Given the description of an element on the screen output the (x, y) to click on. 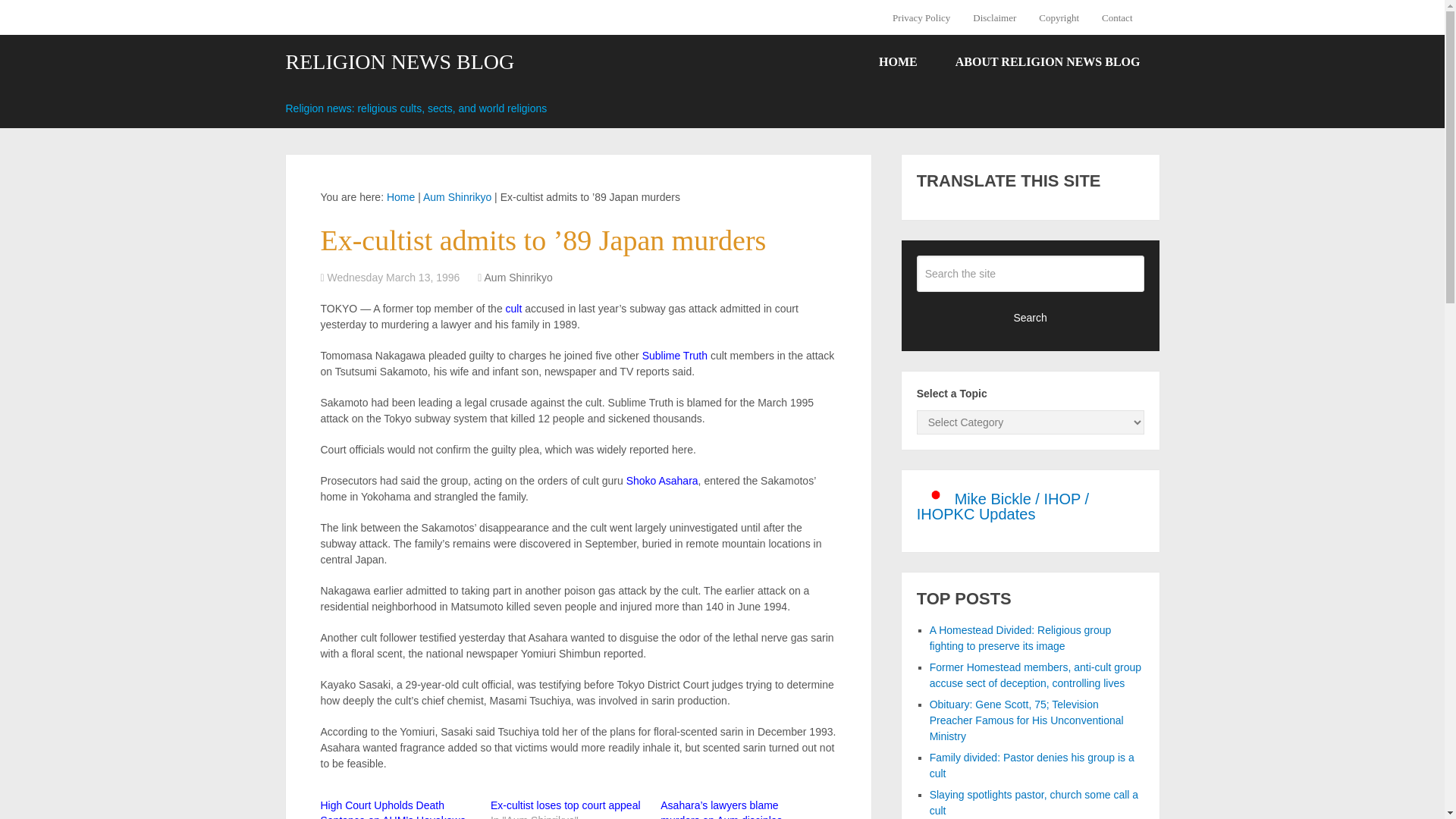
Search (1030, 317)
cult (513, 308)
HOME (898, 62)
RELIGION NEWS BLOG (399, 61)
Home (400, 196)
Ex-cultist loses top court appeal (565, 805)
Privacy Policy (926, 17)
ABOUT RELIGION NEWS BLOG (1047, 62)
Shoko Asahara (662, 480)
Contact (1116, 17)
Family divided: Pastor denies his group is a cult (1032, 765)
View all posts in Aum Shinrikyo (518, 277)
Ex-cultist loses top court appeal (565, 805)
